Given the description of an element on the screen output the (x, y) to click on. 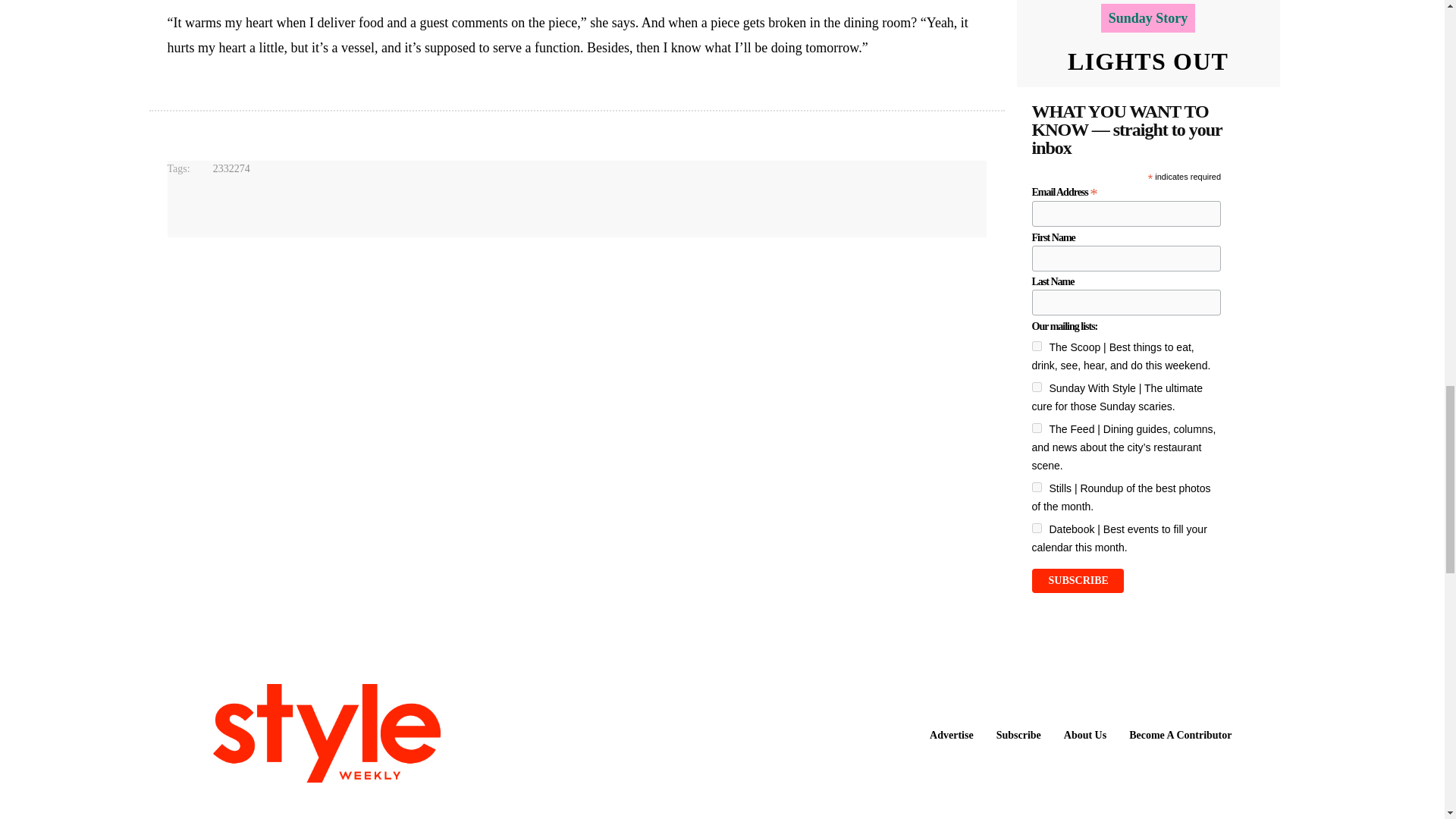
Subscribe (1076, 580)
